Given the description of an element on the screen output the (x, y) to click on. 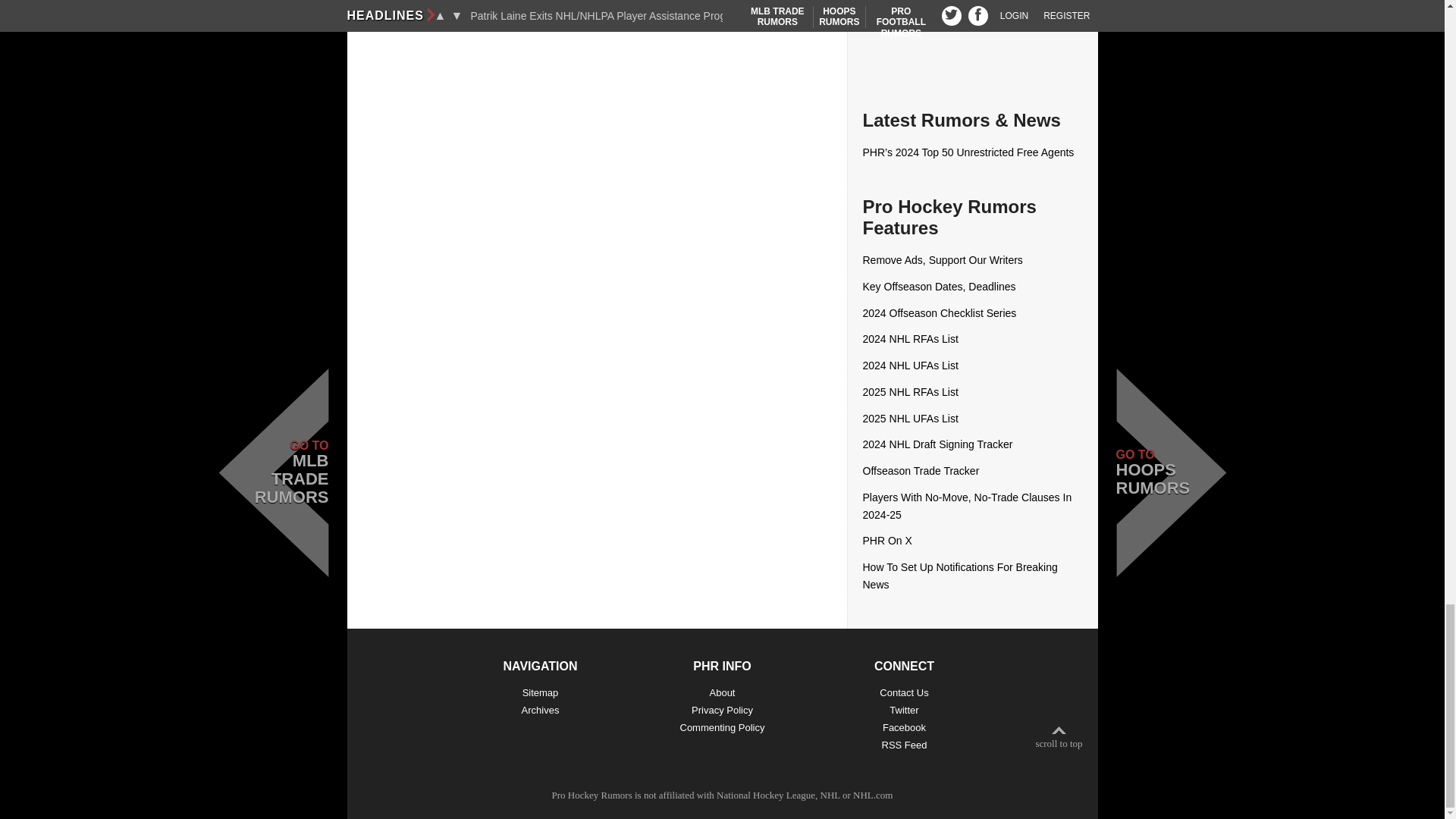
Pro Hockey Rumors (591, 794)
